Given the description of an element on the screen output the (x, y) to click on. 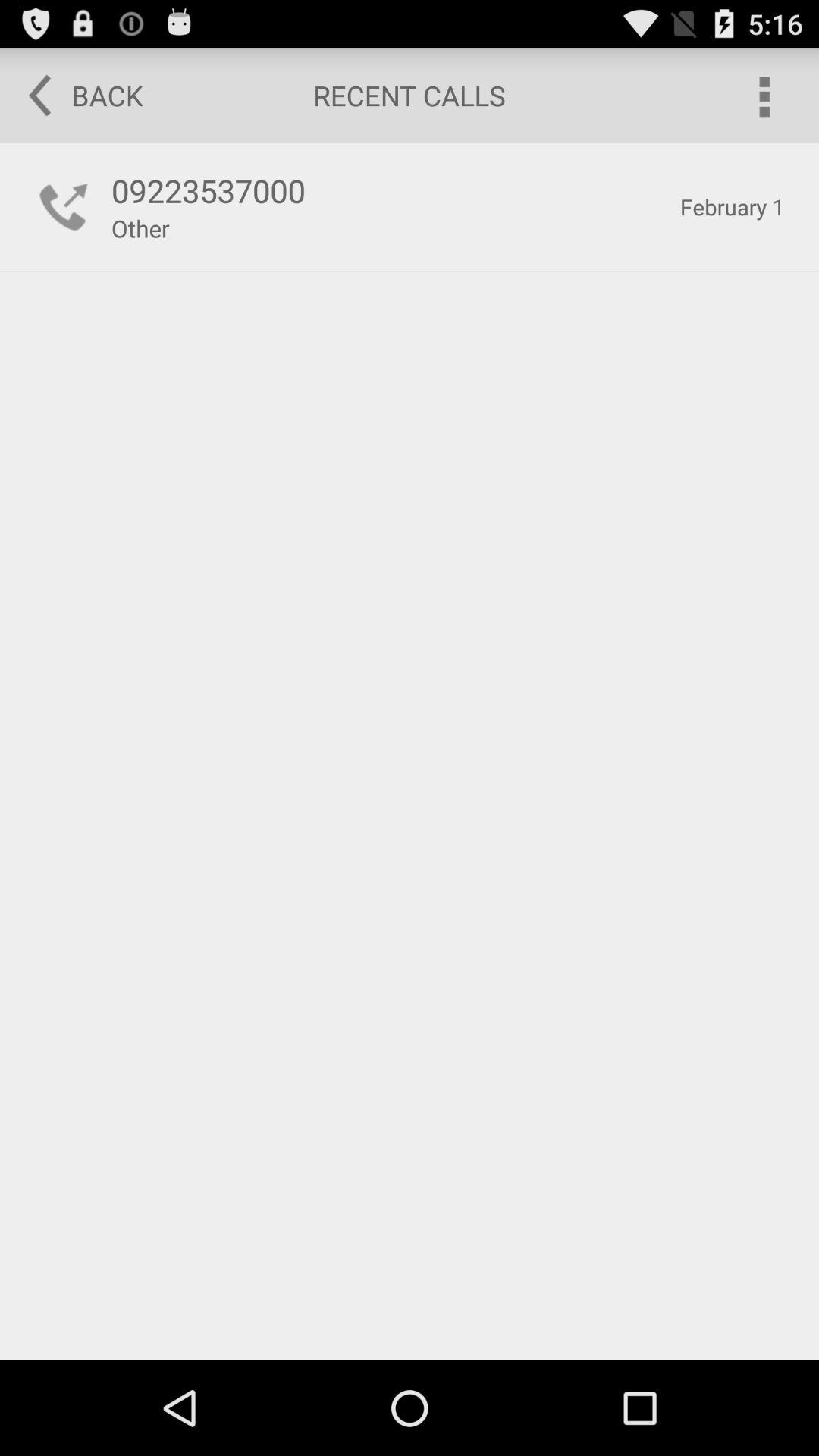
flip to the february 1 (732, 206)
